Given the description of an element on the screen output the (x, y) to click on. 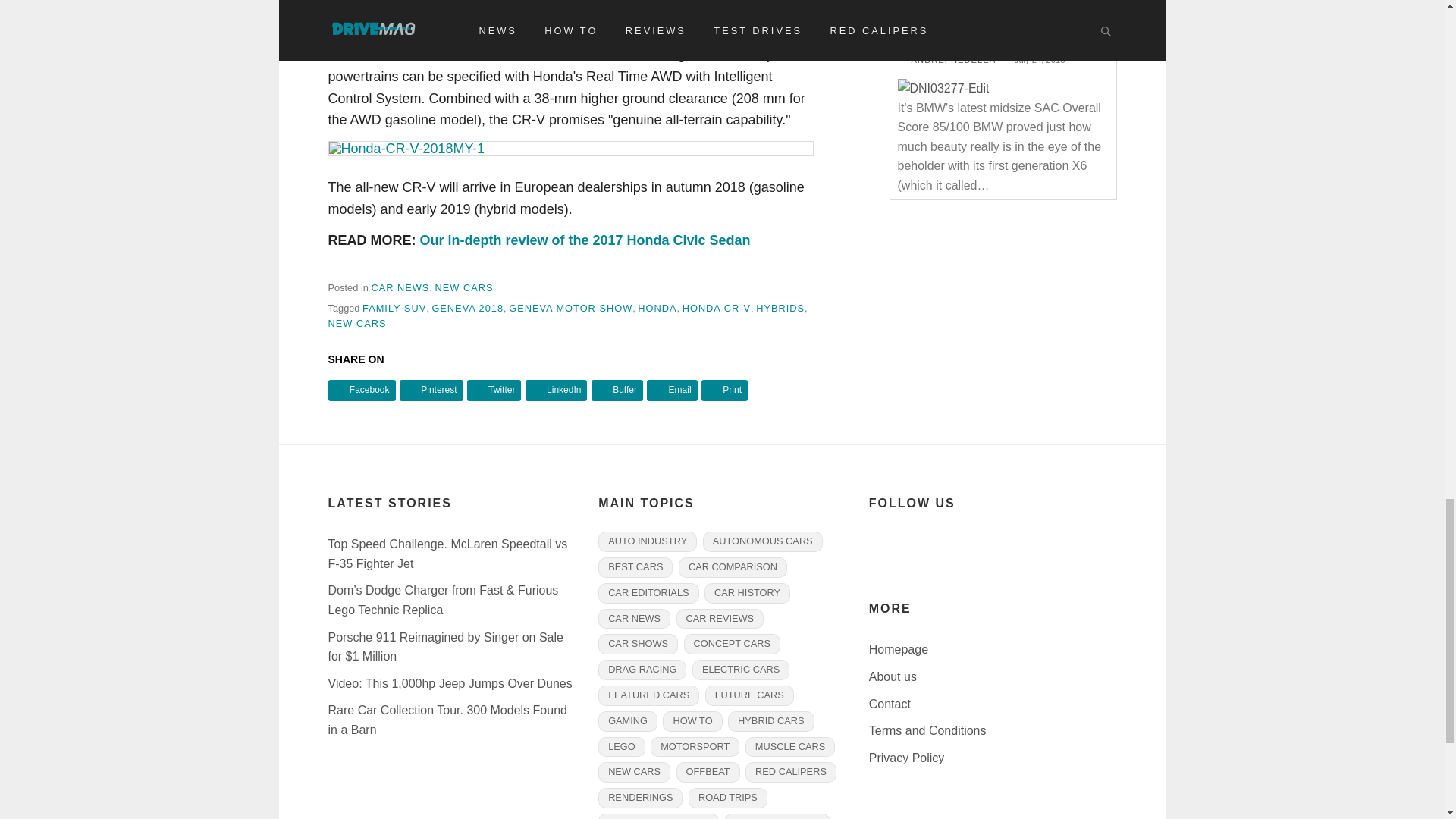
HONDA (657, 307)
HONDA CR-V (716, 307)
GENEVA 2018 (466, 307)
FAMILY SUV (394, 307)
Facebook (360, 390)
GENEVA MOTOR SHOW (569, 307)
Twitter (494, 390)
Pinterest (430, 390)
CAR NEWS (400, 287)
outgoing CR-V (672, 4)
